Given the description of an element on the screen output the (x, y) to click on. 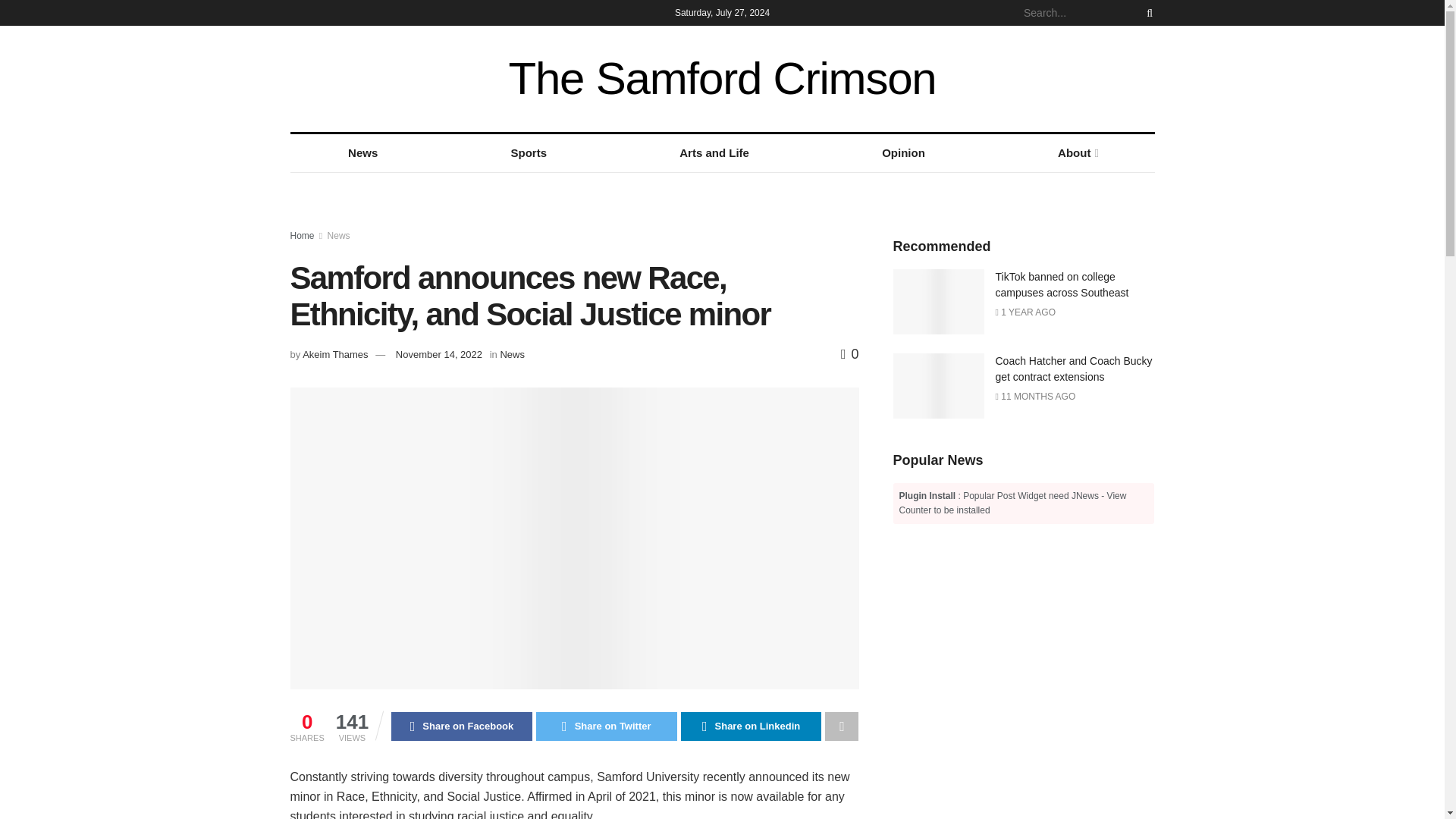
Arts and Life (714, 152)
Share on Facebook (461, 726)
Opinion (904, 152)
Akeim Thames (335, 354)
News (362, 152)
November 14, 2022 (438, 354)
Share on Linkedin (751, 726)
News (511, 354)
The Samford Crimson (722, 78)
News (338, 235)
Sports (528, 152)
weather forecast (1147, 78)
About (1076, 152)
Home (301, 235)
Share on Twitter (606, 726)
